Given the description of an element on the screen output the (x, y) to click on. 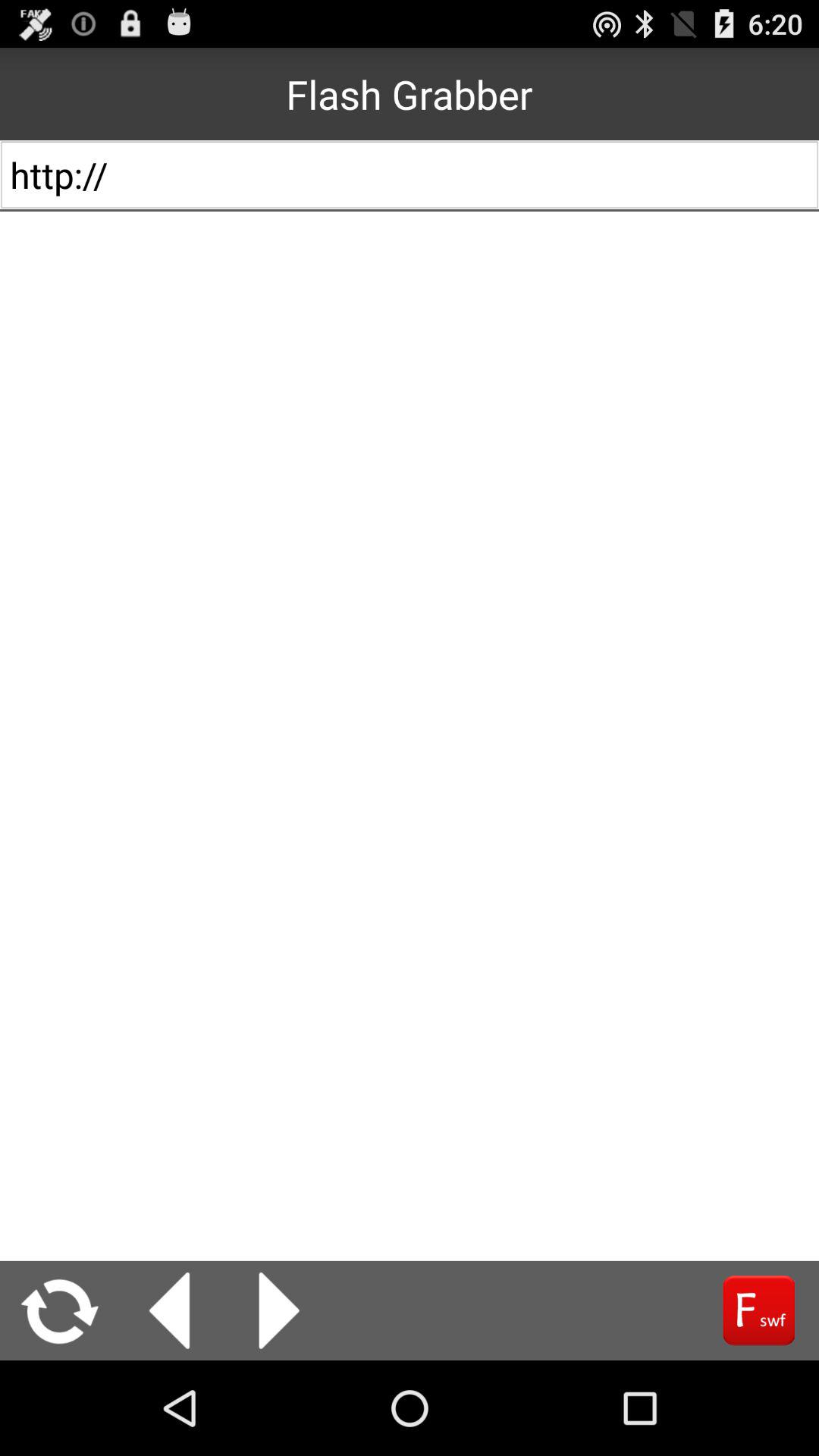
go forward (758, 1310)
